Given the description of an element on the screen output the (x, y) to click on. 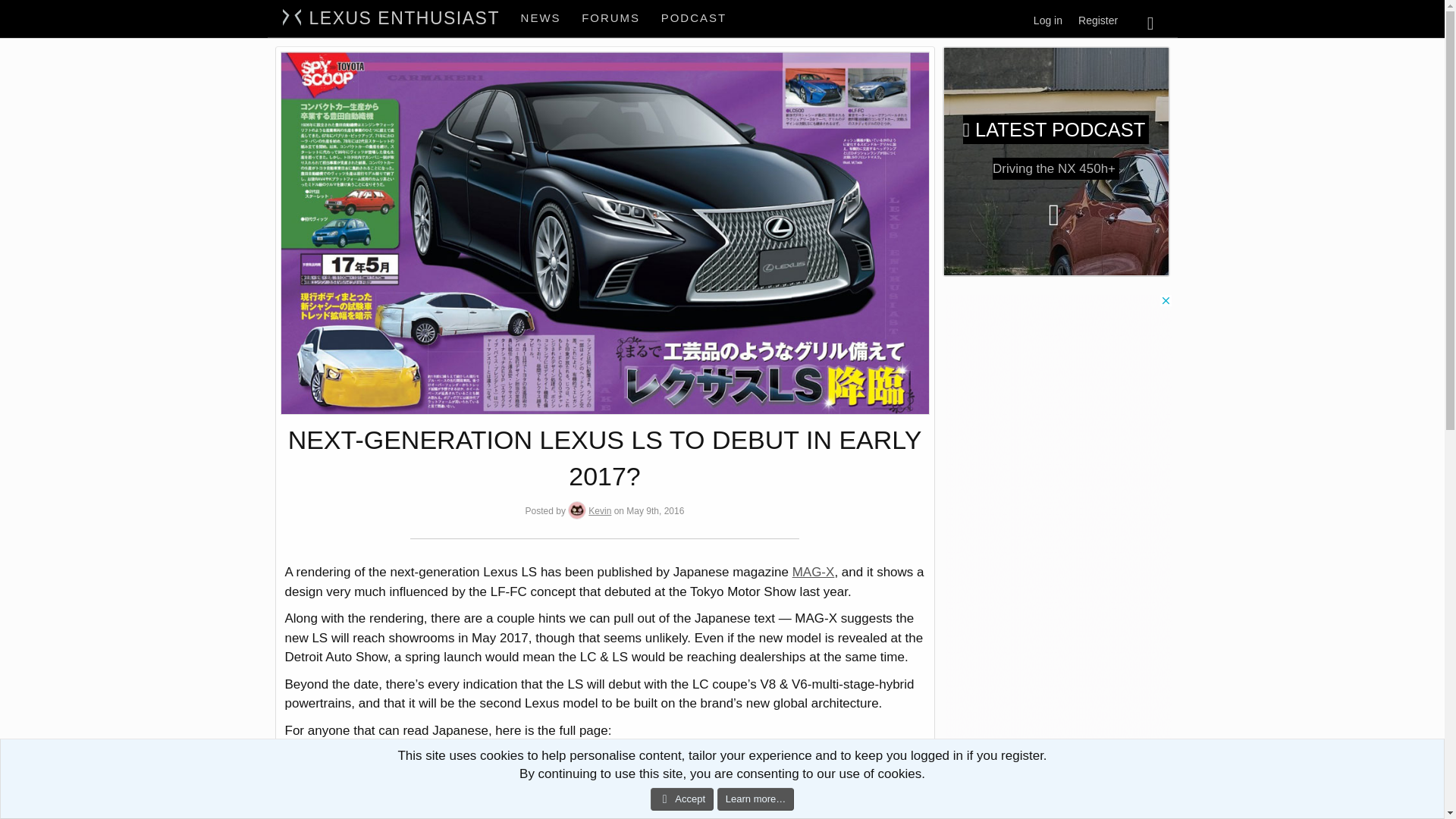
MAG-X (813, 572)
Kevin (599, 511)
Log in (1048, 20)
PODCAST (694, 18)
NEWS (541, 18)
Register (623, 35)
LEXUS ENTHUSIAST (1097, 20)
FORUMS (623, 18)
